Given the description of an element on the screen output the (x, y) to click on. 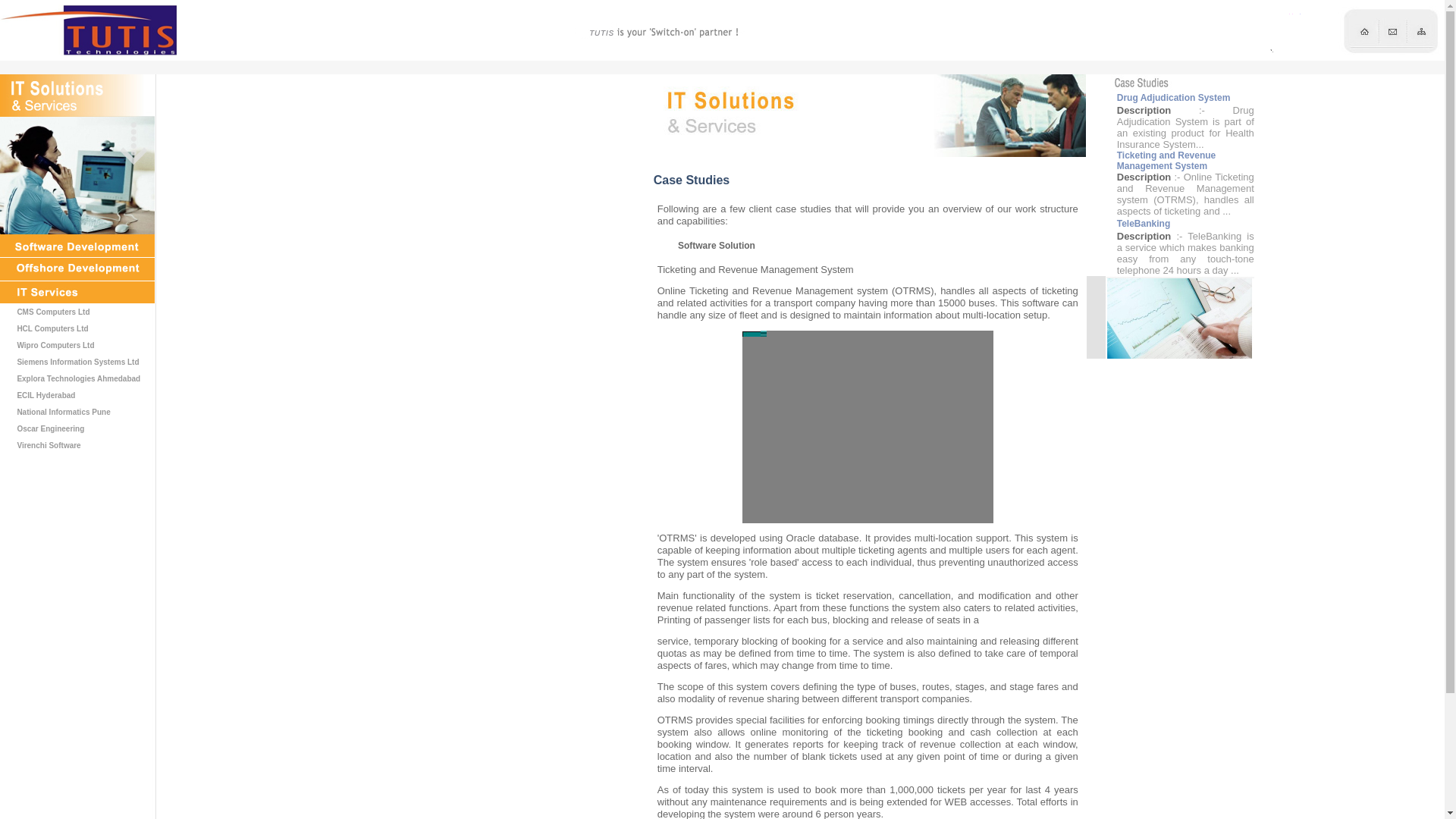
TeleBanking (1143, 223)
Ticketing and Revenue Management System (1165, 160)
Drug Adjudication System (1173, 97)
Software Solution (716, 245)
